Given the description of an element on the screen output the (x, y) to click on. 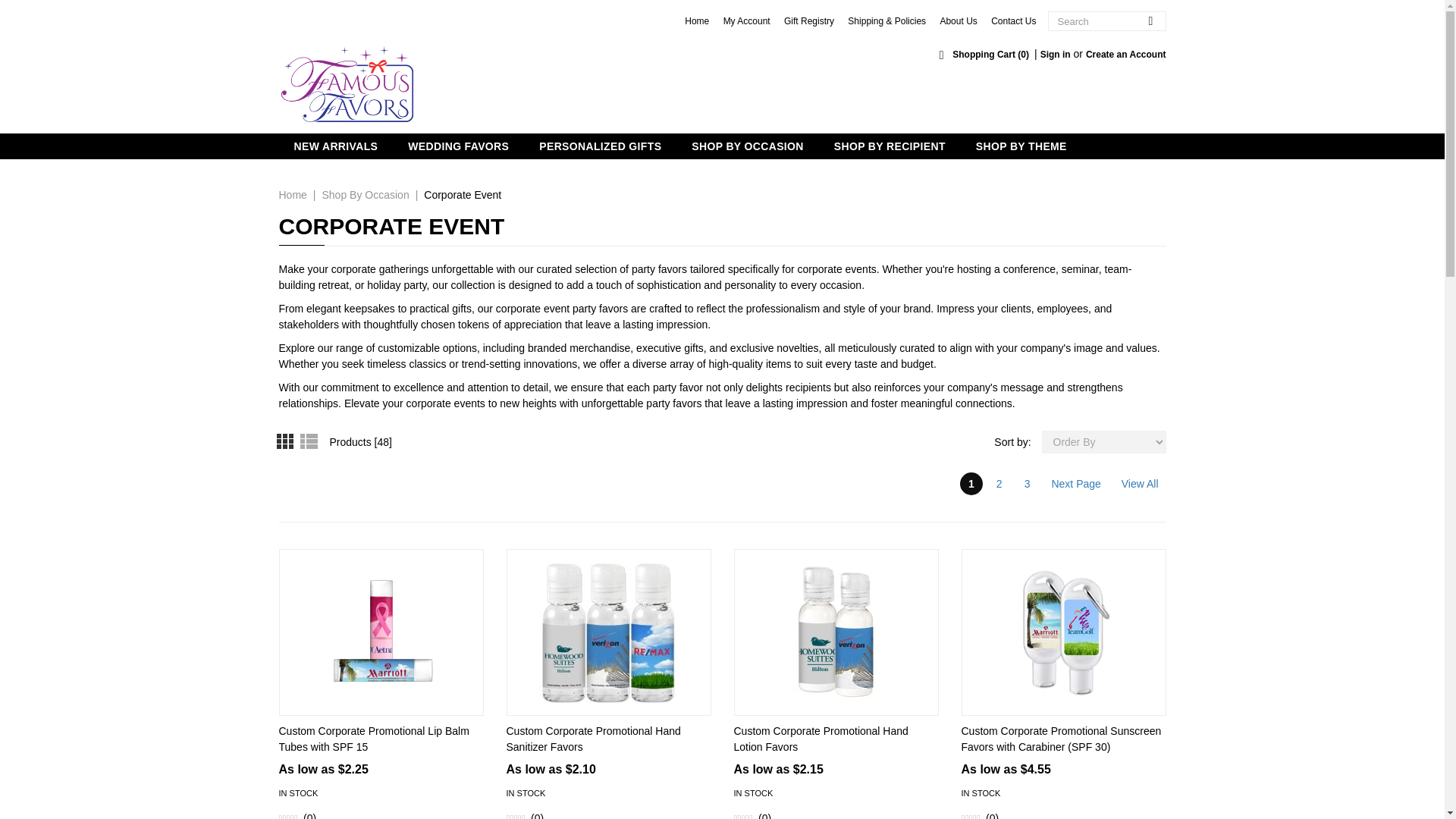
Home (293, 194)
PERSONALIZED GIFTS (600, 145)
Contact Us (1013, 20)
Custom Corporate Promotional Hand Sanitizer Favors (593, 738)
SHOP BY RECIPIENT (889, 145)
NEW ARRIVALS (336, 145)
Corporate Event (461, 194)
Gift Registry (809, 20)
List View (307, 440)
WEDDING FAVORS (458, 145)
Create an Account (1126, 54)
Grid View (288, 440)
Home (696, 20)
SHOP BY THEME (1020, 145)
Sign in (1055, 54)
